Given the description of an element on the screen output the (x, y) to click on. 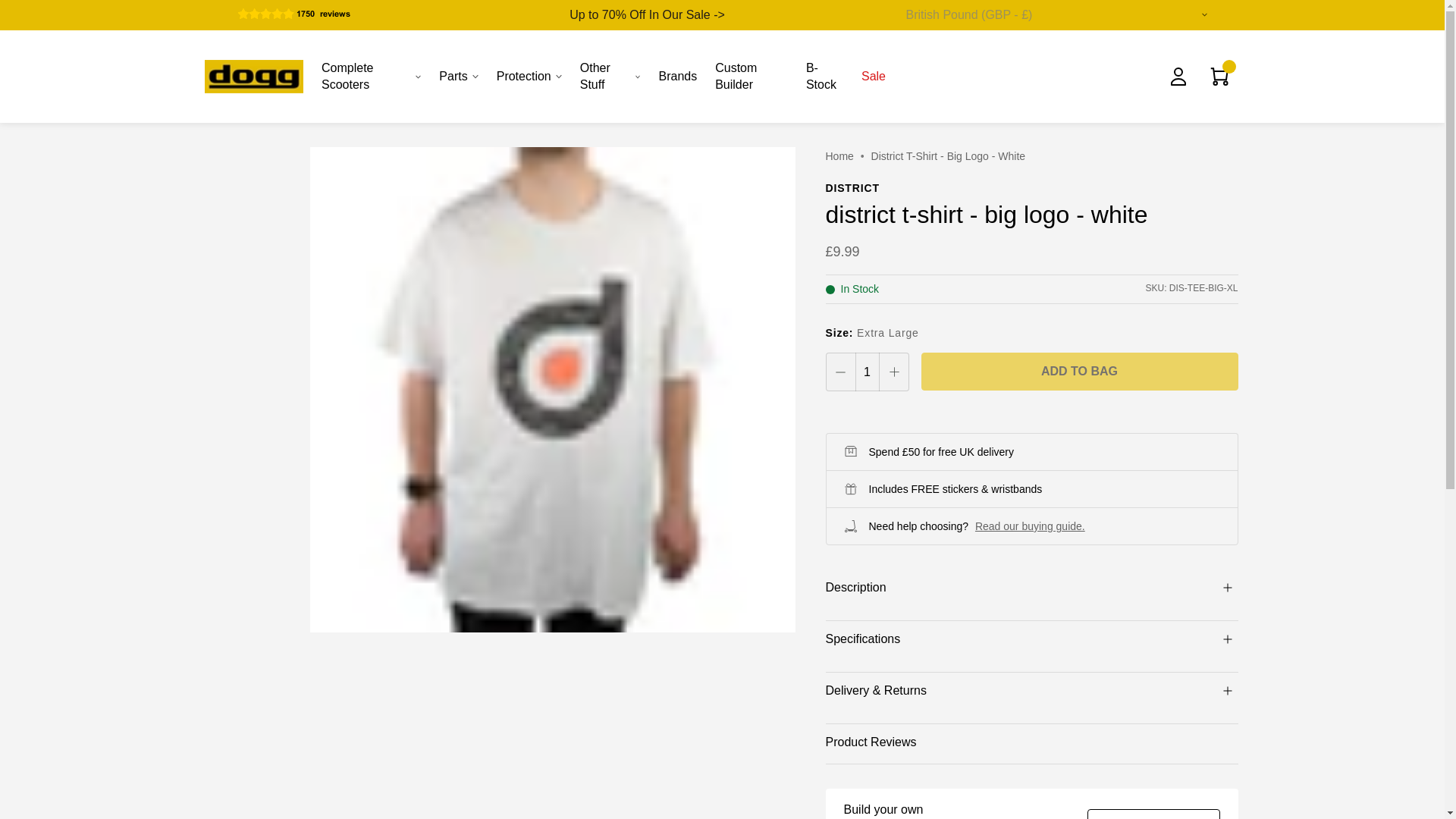
Read our buying guide. (1029, 525)
Complete Scooters (370, 76)
Parts (458, 76)
Our customer Feefo rating (311, 12)
home (839, 155)
Skip to content (35, 39)
1 (866, 371)
